Given the description of an element on the screen output the (x, y) to click on. 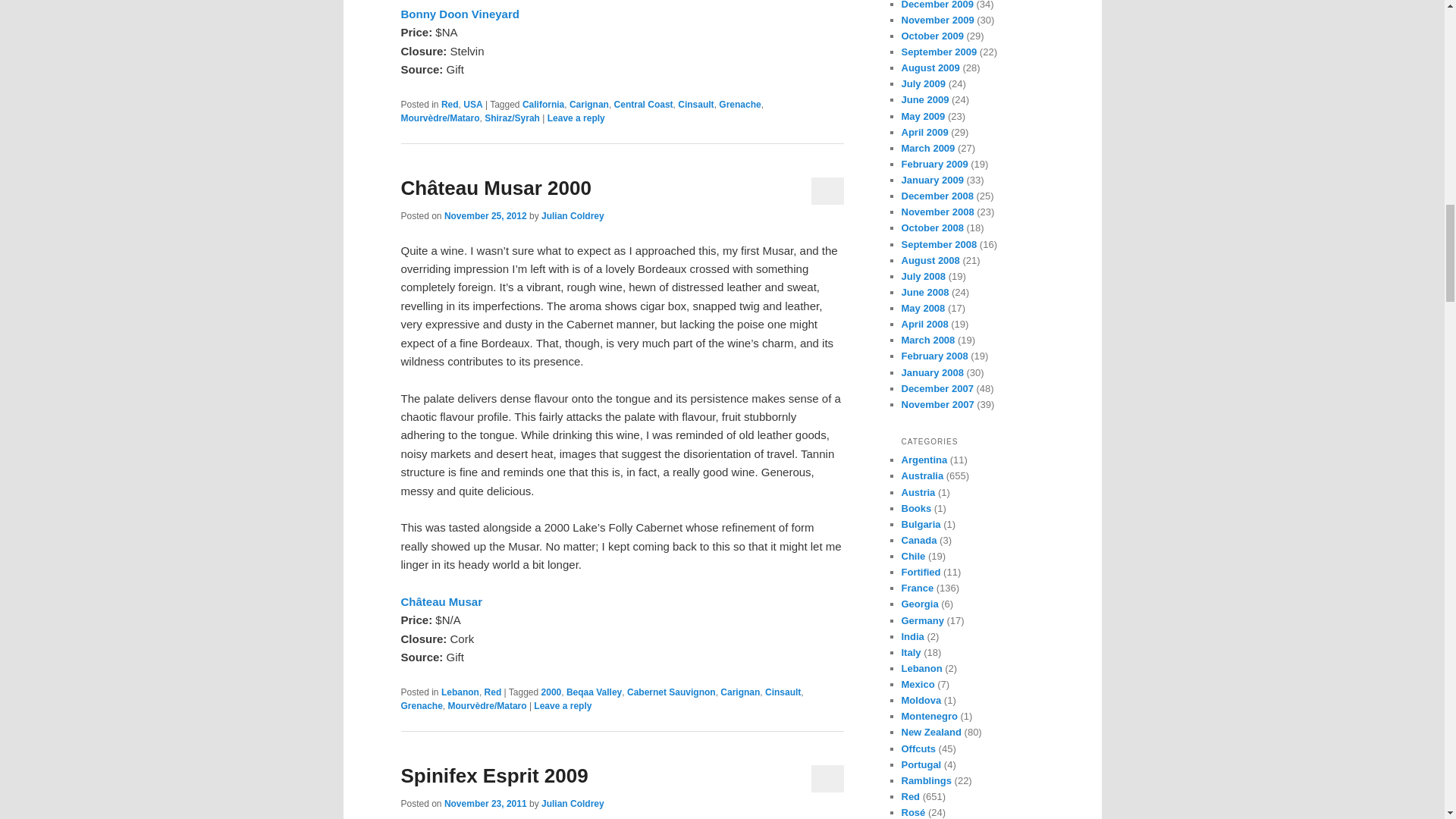
Central Coast (643, 104)
Leave a reply (576, 118)
Grenache (739, 104)
1:06 am (485, 803)
View all posts by Julian Coldrey (572, 803)
Carignan (588, 104)
USA (472, 104)
Cinsault (695, 104)
California (543, 104)
Julian Coldrey (572, 215)
